Given the description of an element on the screen output the (x, y) to click on. 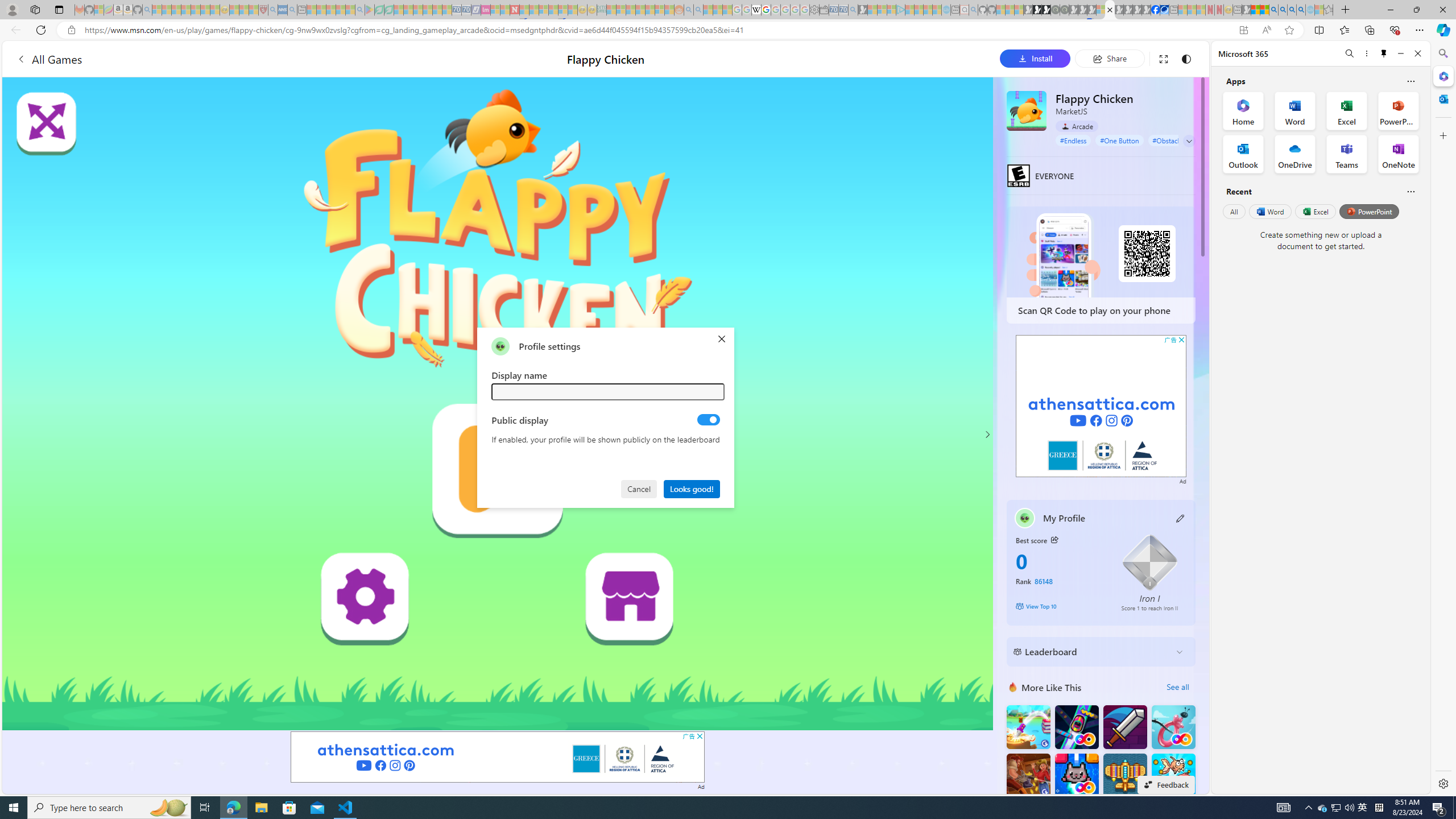
Full screen (1163, 58)
Local - MSN - Sleeping (253, 9)
Word (1269, 210)
Balloon FRVR (1173, 726)
All Games (212, 58)
Play Zoo Boom in your browser | Games from Microsoft Start (1036, 9)
Home | Sky Blue Bikes - Sky Blue Bikes - Sleeping (945, 9)
Dungeon Master Knight (1124, 726)
Teams Office App (1346, 154)
